Given the description of an element on the screen output the (x, y) to click on. 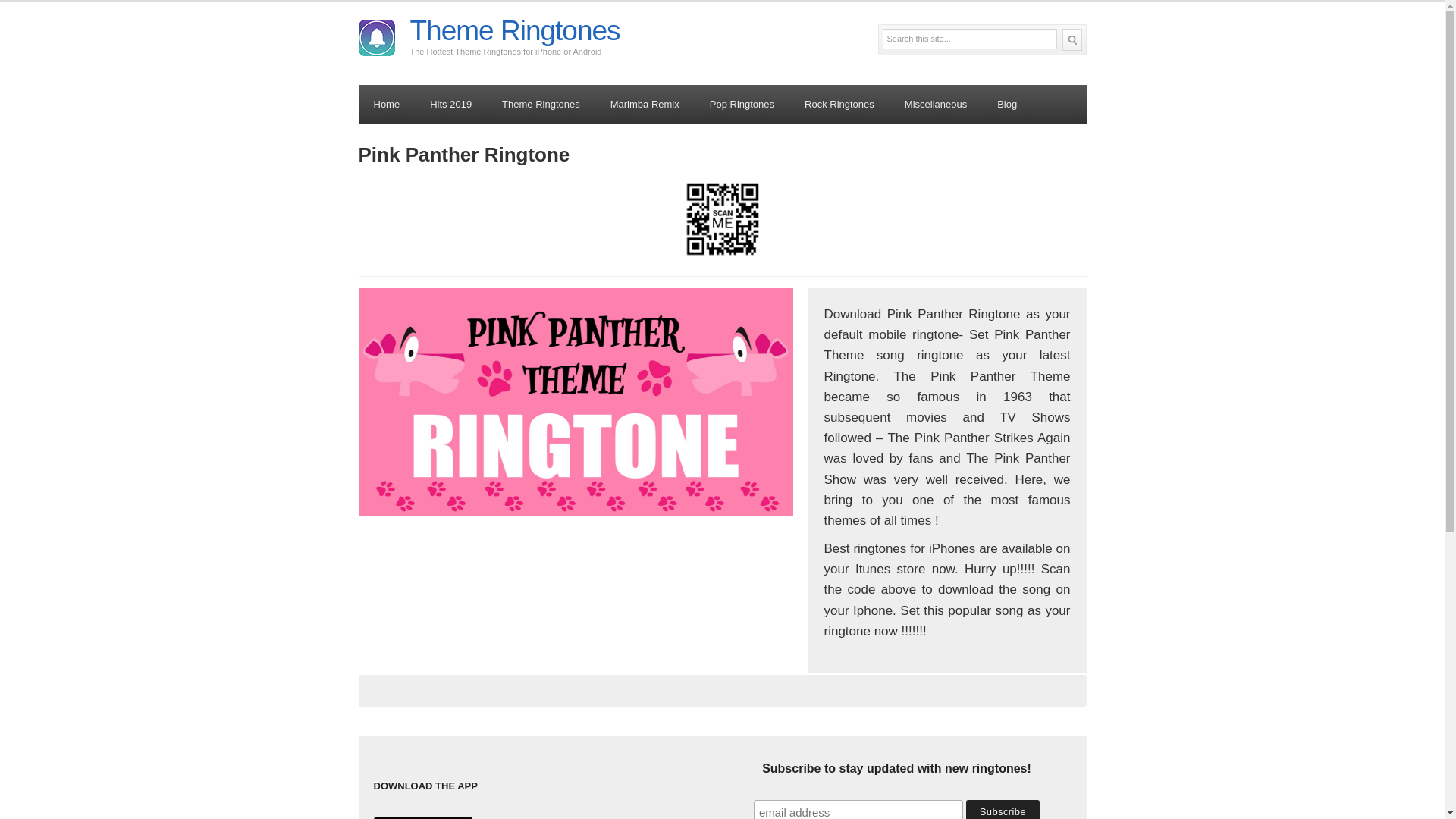
Rock Ringtones (839, 104)
Marimba Remix (644, 104)
Theme Ringtones (540, 104)
Subscribe (1002, 809)
Theme Ringtones (514, 30)
Home (386, 104)
Search (1071, 39)
Blog (1006, 104)
Pop Ringtones (741, 104)
Search this site... (969, 38)
